Given the description of an element on the screen output the (x, y) to click on. 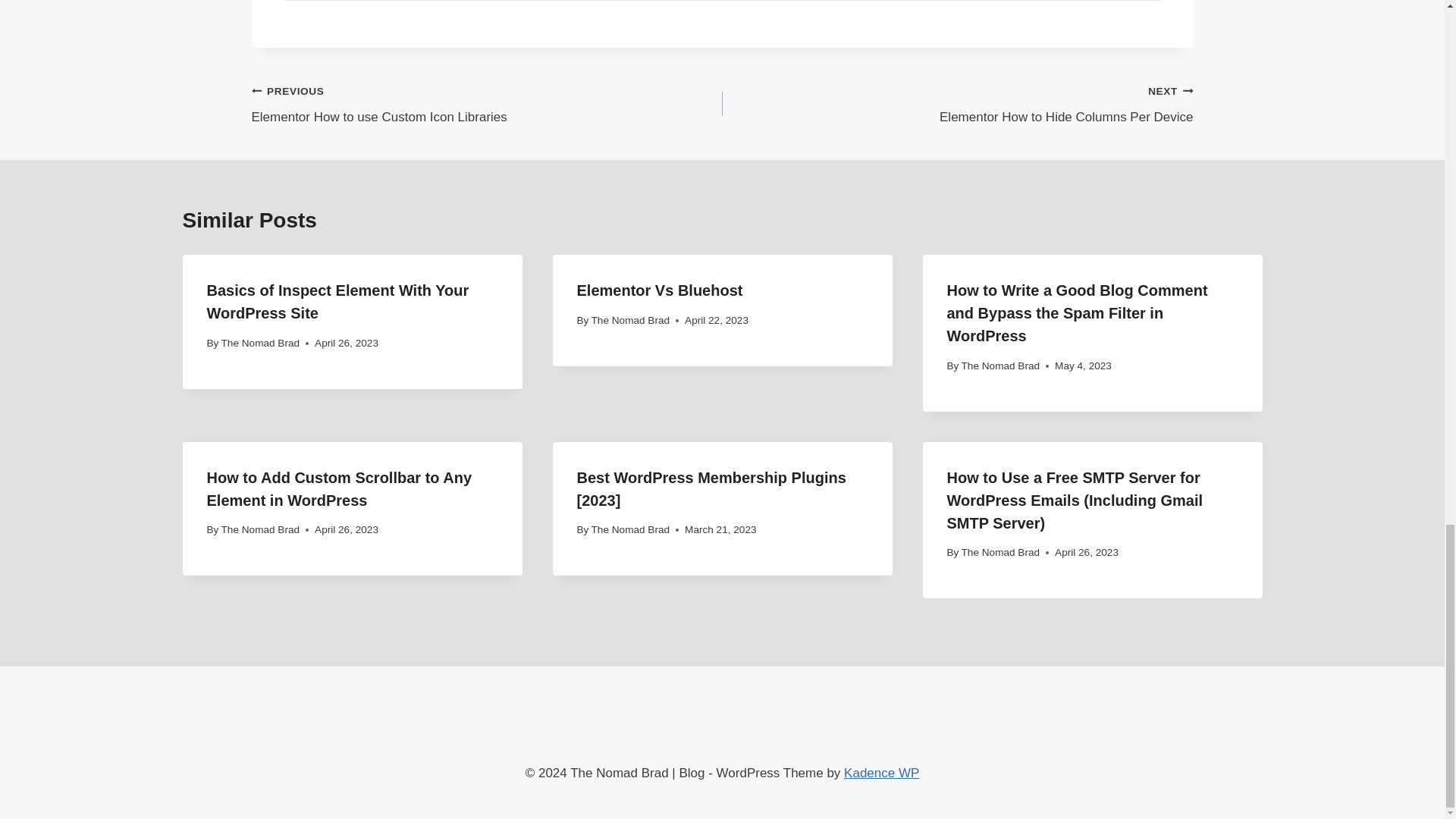
Elementor Vs Bluehost (659, 289)
How to Add Custom Scrollbar to Any Element in WordPress (338, 488)
The Nomad Brad (630, 319)
The Nomad Brad (1000, 552)
The Nomad Brad (630, 529)
The Nomad Brad (957, 103)
Basics of Inspect Element With Your WordPress Site (1000, 365)
The Nomad Brad (337, 301)
